Given the description of an element on the screen output the (x, y) to click on. 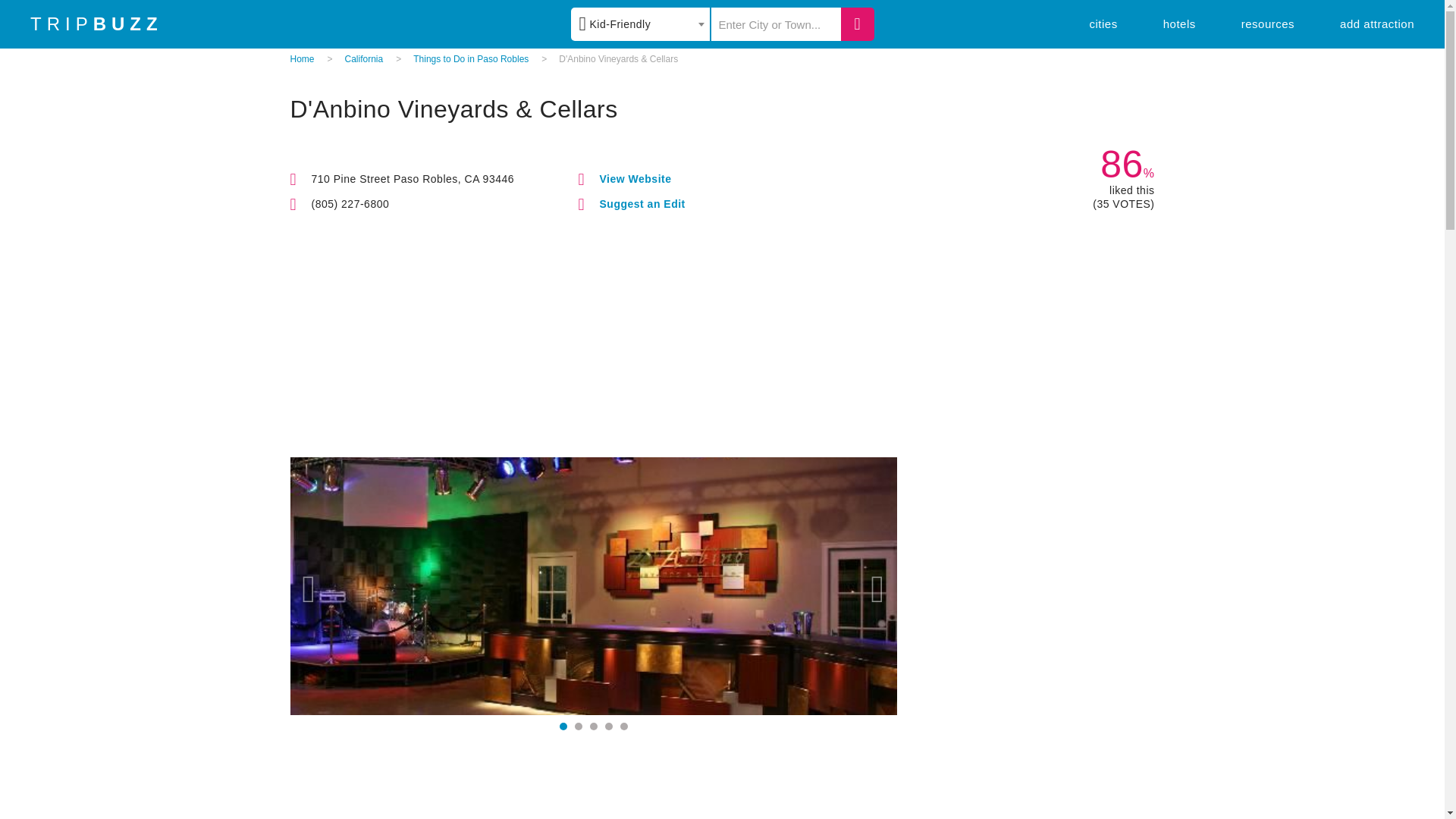
TRIPBUZZ (96, 24)
cities (1103, 23)
Resources (1267, 23)
California (364, 59)
hotels (1179, 23)
3 (592, 726)
1 (563, 726)
Login (832, 130)
Home (301, 59)
5 (623, 726)
